Given the description of an element on the screen output the (x, y) to click on. 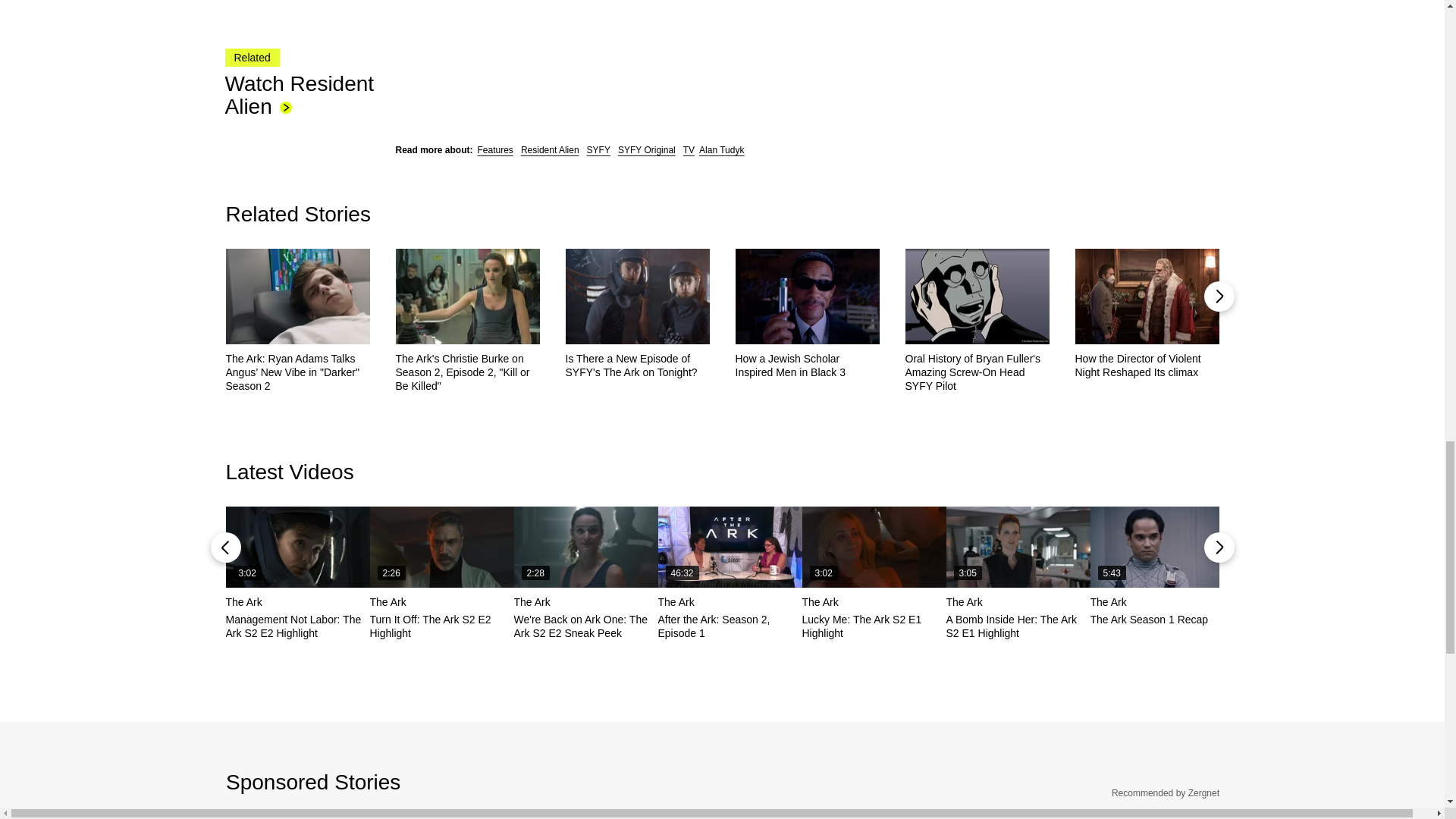
SYFY (598, 149)
After the Ark: Season 2, Episode 1 (730, 547)
Turn It Off: The Ark S2 E2 Highlight (441, 547)
Lucky Me: The Ark S2 E1 Highlight (874, 547)
Features (495, 149)
Management Not Labor: The Ark S2 E2 Highlight (297, 547)
Alan Tudyk (721, 149)
TV (688, 149)
SYFY Original (646, 149)
A Bomb Inside Her: The Ark S2 E1 Highlight (1018, 547)
We're Back on Ark One: The Ark S2 E2 Sneak Peek (585, 547)
The Ark Season 1 Recap (1162, 547)
Resident Alien (550, 149)
